Given the description of an element on the screen output the (x, y) to click on. 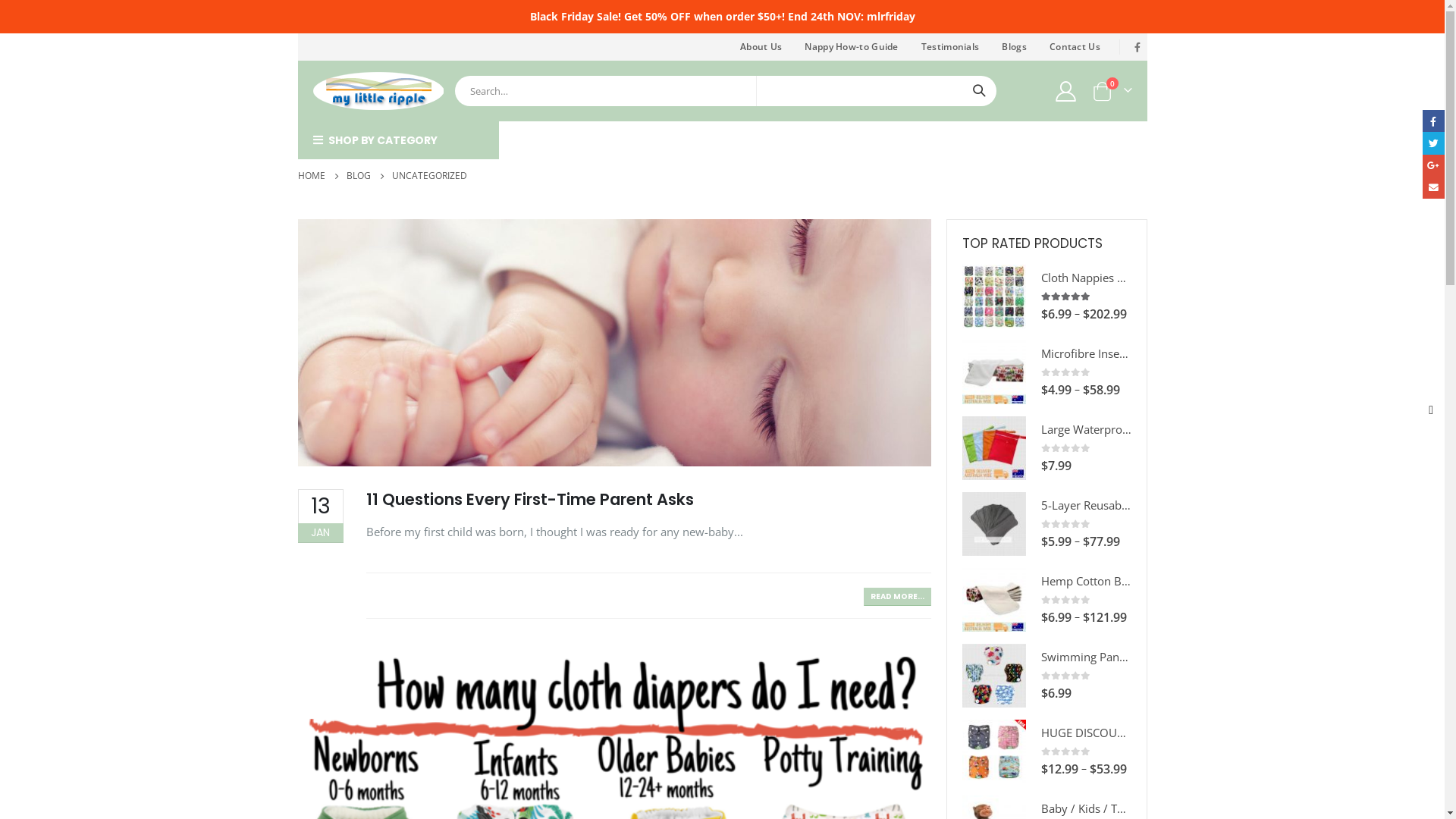
Facebook Element type: hover (1137, 46)
HUGE DISCOUNT Smaller Size Baby Cloth Nappy Shells Covers Element type: hover (993, 751)
11 Questions Every First-Time Parent Asks Element type: text (529, 499)
Swimming Pants for Babies - Washable Adjustable Element type: text (1085, 657)
About Us Element type: text (760, 46)
Search Element type: hover (978, 90)
BLOG Element type: text (357, 175)
Nappy How-to Guide Element type: text (851, 46)
Email Element type: text (1433, 187)
Google + Element type: text (1433, 165)
Testimonials Element type: text (950, 46)
Swimming Pants for Babies - Washable Adjustable Element type: hover (993, 675)
HUGE DISCOUNT Smaller Size Baby Cloth Nappy Shells Covers Element type: text (1085, 732)
Twitter Element type: text (1433, 142)
Blogs Element type: text (1014, 46)
HOME Element type: text (310, 175)
Contact Us Element type: text (1074, 46)
My Account Element type: hover (1065, 90)
READ MORE... Element type: text (896, 596)
Facebook Element type: text (1433, 120)
